Given the description of an element on the screen output the (x, y) to click on. 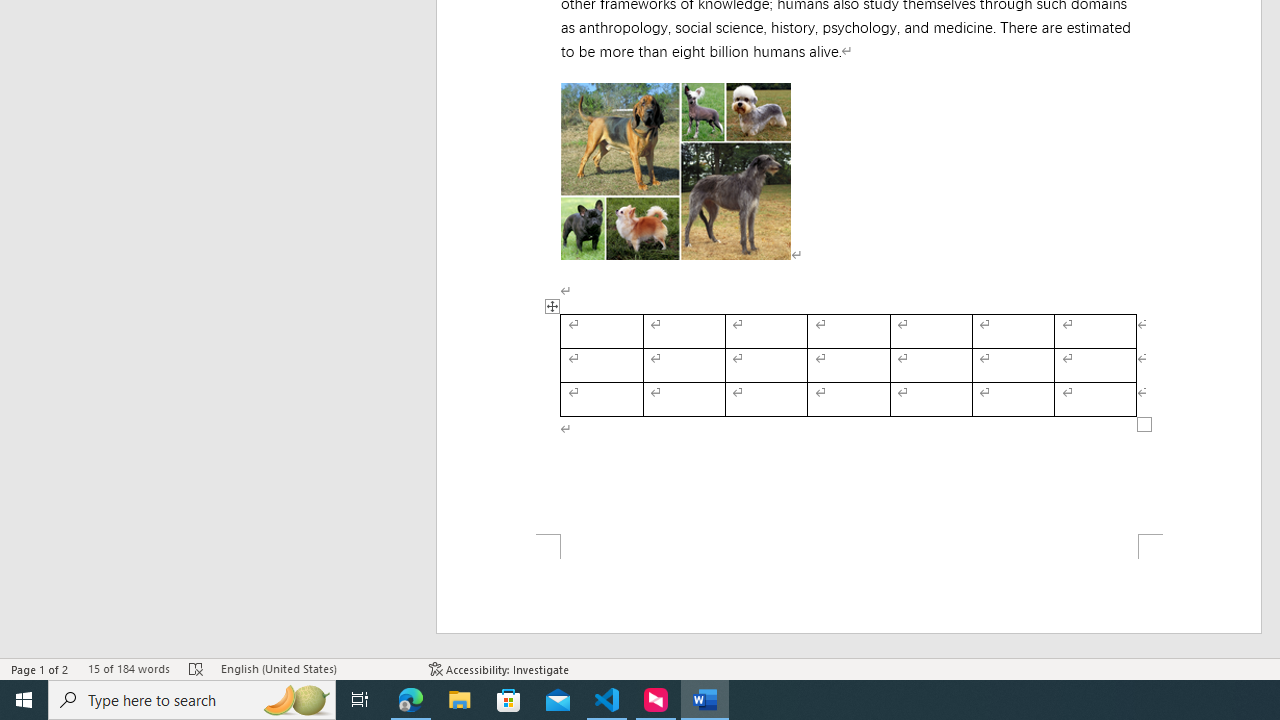
Language English (United States) (315, 668)
Word Count 15 of 184 words (128, 668)
Morphological variation in six dogs (675, 170)
Accessibility Checker Accessibility: Investigate (499, 668)
Spelling and Grammar Check Errors (196, 668)
Page Number Page 1 of 2 (39, 668)
